Given the description of an element on the screen output the (x, y) to click on. 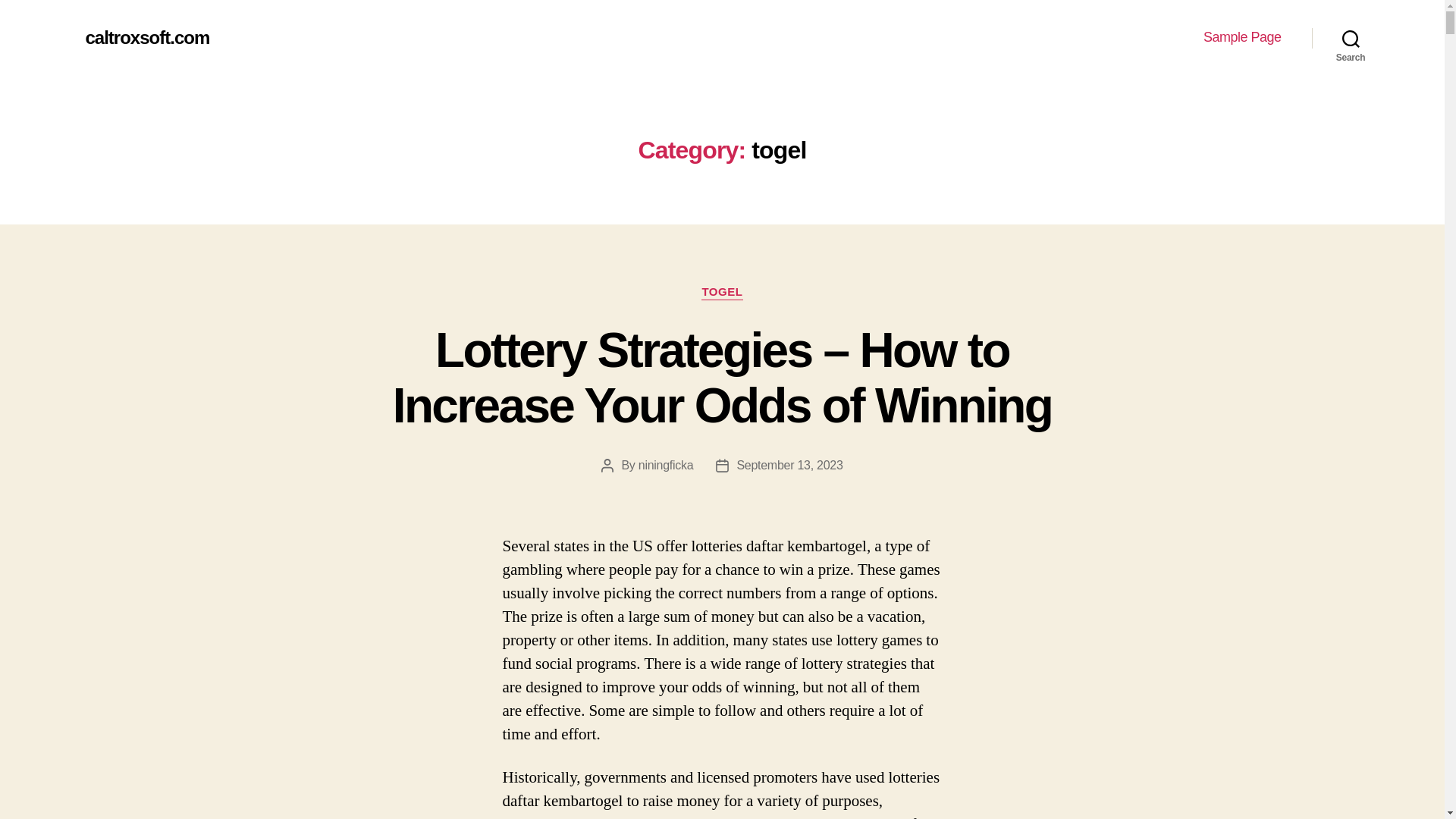
caltroxsoft.com (146, 37)
TOGEL (721, 292)
Search (1350, 37)
niningficka (666, 464)
Sample Page (1242, 37)
September 13, 2023 (789, 464)
